Given the description of an element on the screen output the (x, y) to click on. 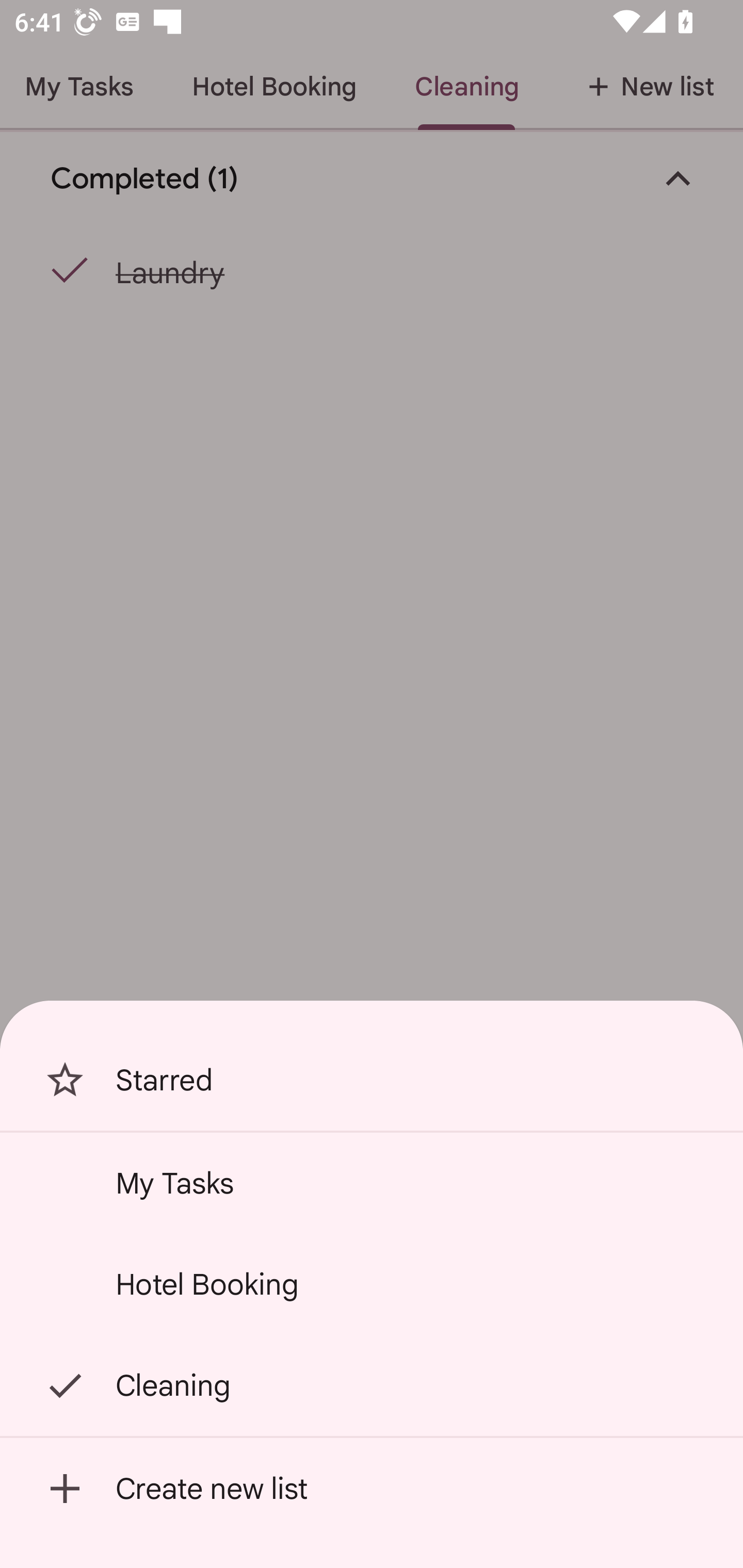
Starred (371, 1080)
My Tasks (371, 1183)
Hotel Booking (371, 1284)
Cleaning (371, 1385)
Create new list (371, 1488)
